Given the description of an element on the screen output the (x, y) to click on. 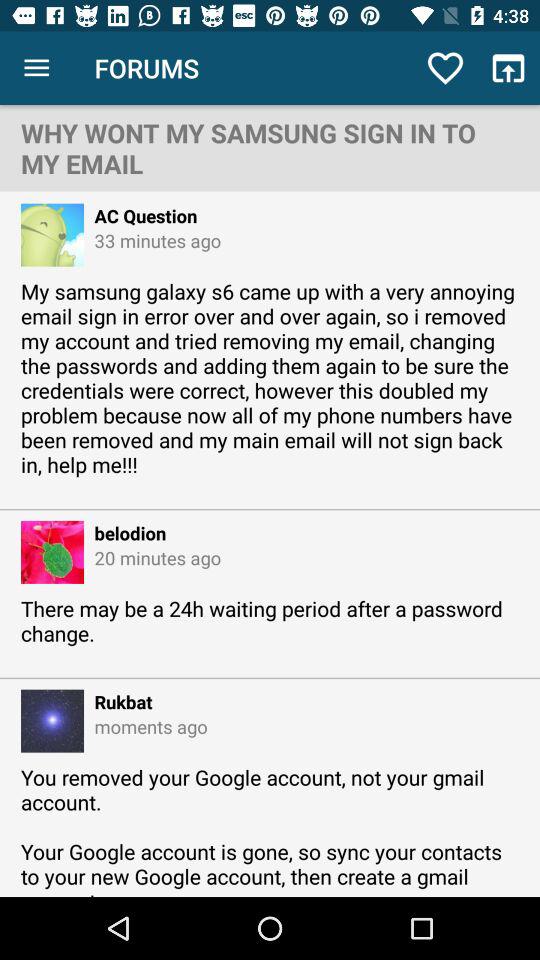
flip until the belodion (125, 532)
